Given the description of an element on the screen output the (x, y) to click on. 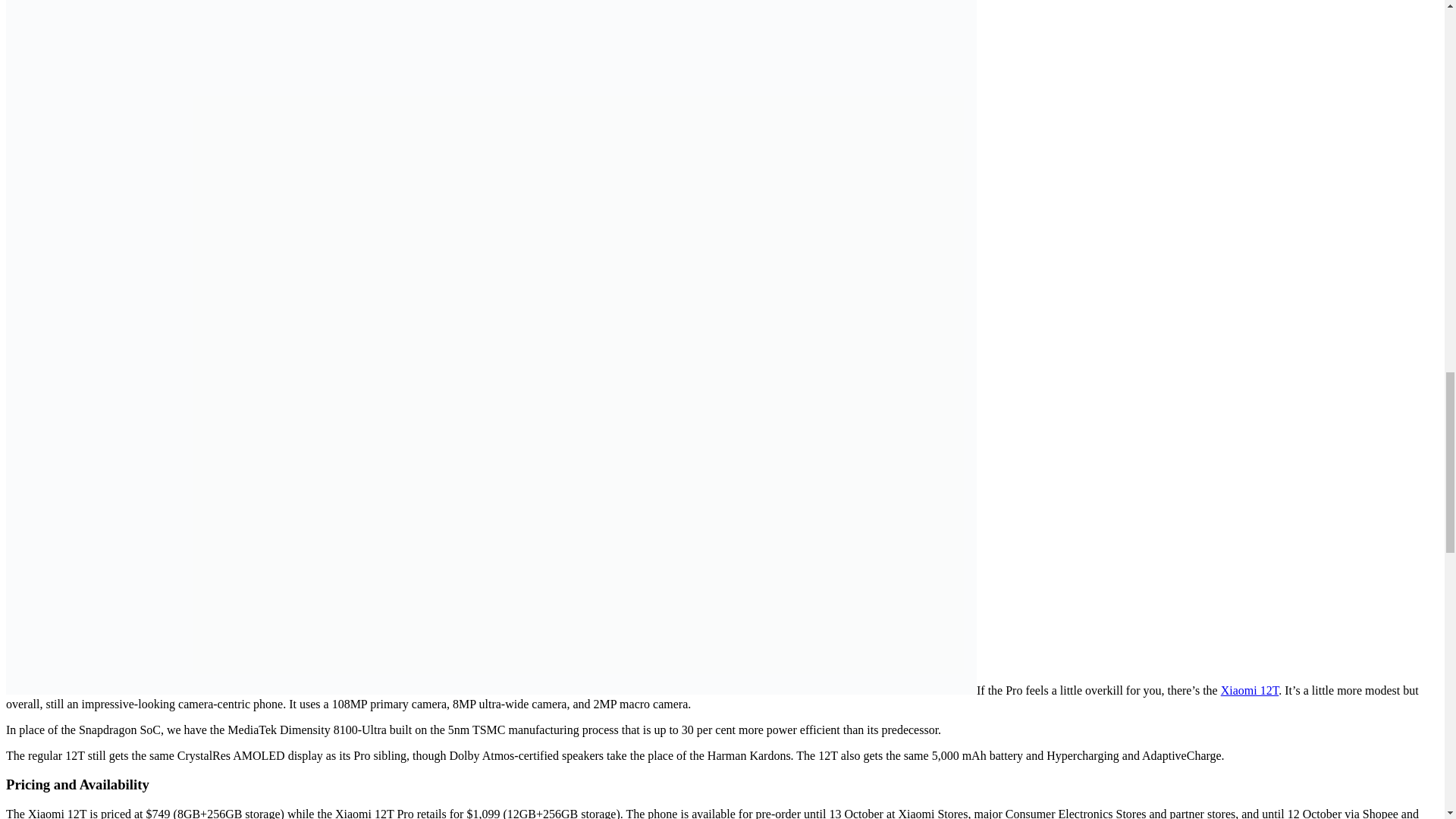
Xiaomi 12T (1250, 689)
